Given the description of an element on the screen output the (x, y) to click on. 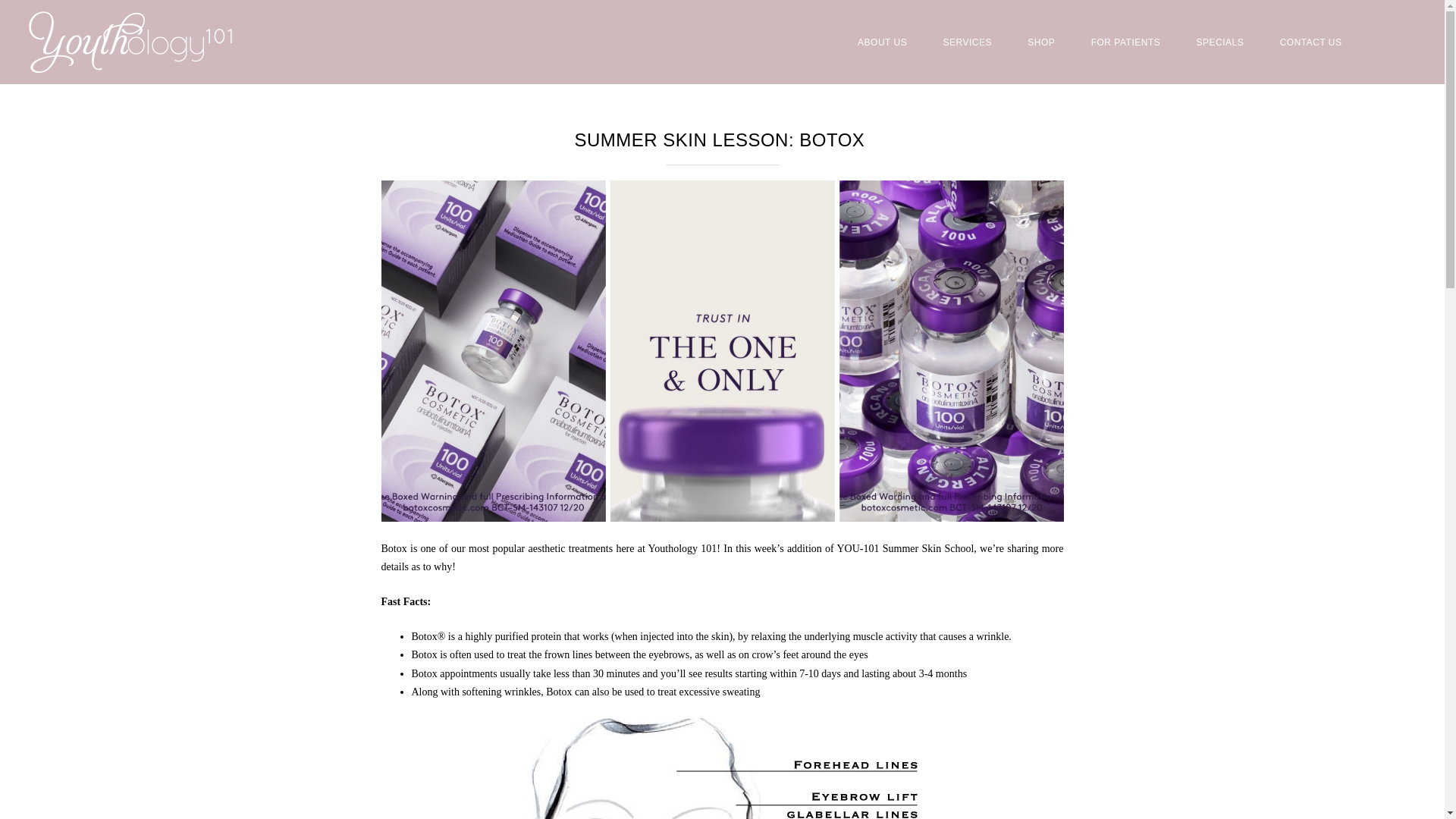
SHOP (1040, 42)
ABOUT US (882, 42)
SPECIALS (1220, 42)
SERVICES (967, 42)
CONTACT US (1310, 42)
FOR PATIENTS (1125, 42)
YOUTHOLOGY 101 (130, 41)
